Given the description of an element on the screen output the (x, y) to click on. 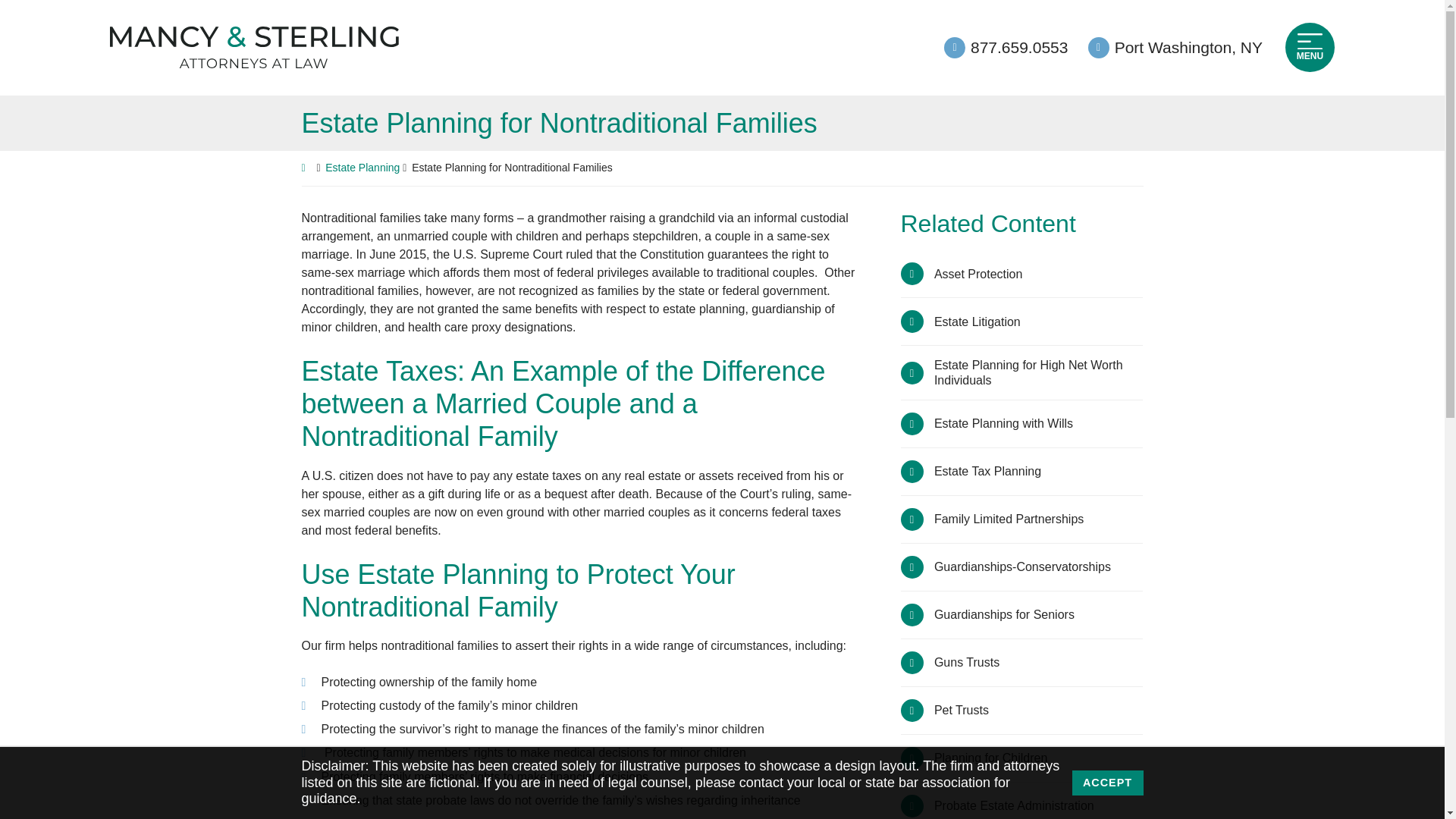
Probate Estate Administration (1021, 800)
Estate Litigation (1021, 321)
877.659.0553 (1005, 46)
Pet Trusts (1021, 710)
Estate Planning with Wills (1021, 423)
Family Limited Partnerships (1021, 519)
Asset Protection (1021, 273)
Guardianships for Seniors (1021, 614)
Guns Trusts (1021, 662)
Estate Tax Planning (1021, 471)
